Given the description of an element on the screen output the (x, y) to click on. 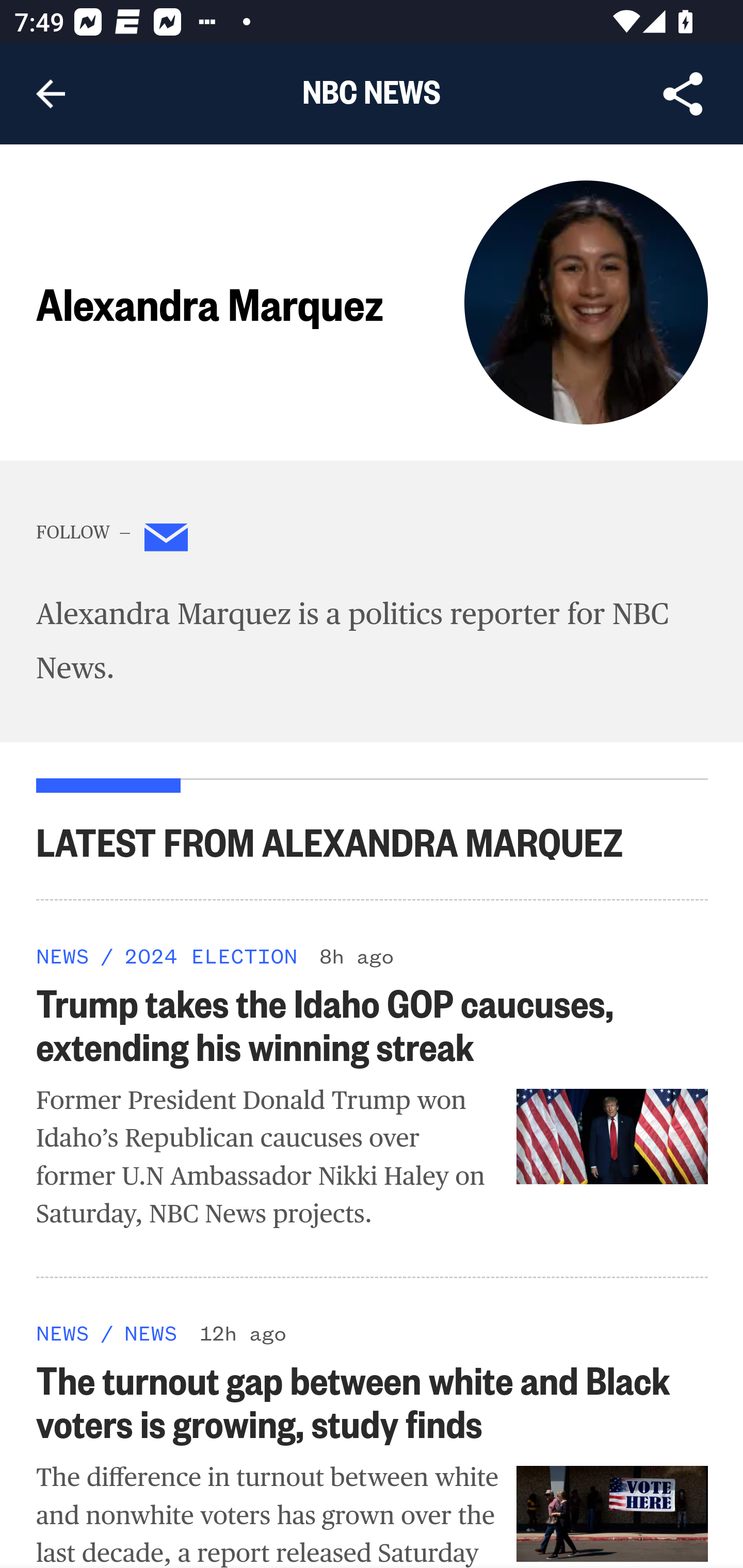
Navigate up (50, 93)
Share Article, button (683, 94)
 (166, 540)
NEWS NEWS NEWS (63, 954)
2024 ELECTION 2024 ELECTION 2024 ELECTION (209, 954)
idaho-republican-caucus-trump-win-rcna140419 (612, 1134)
NEWS NEWS NEWS (63, 1332)
NEWS NEWS NEWS (150, 1332)
